Given the description of an element on the screen output the (x, y) to click on. 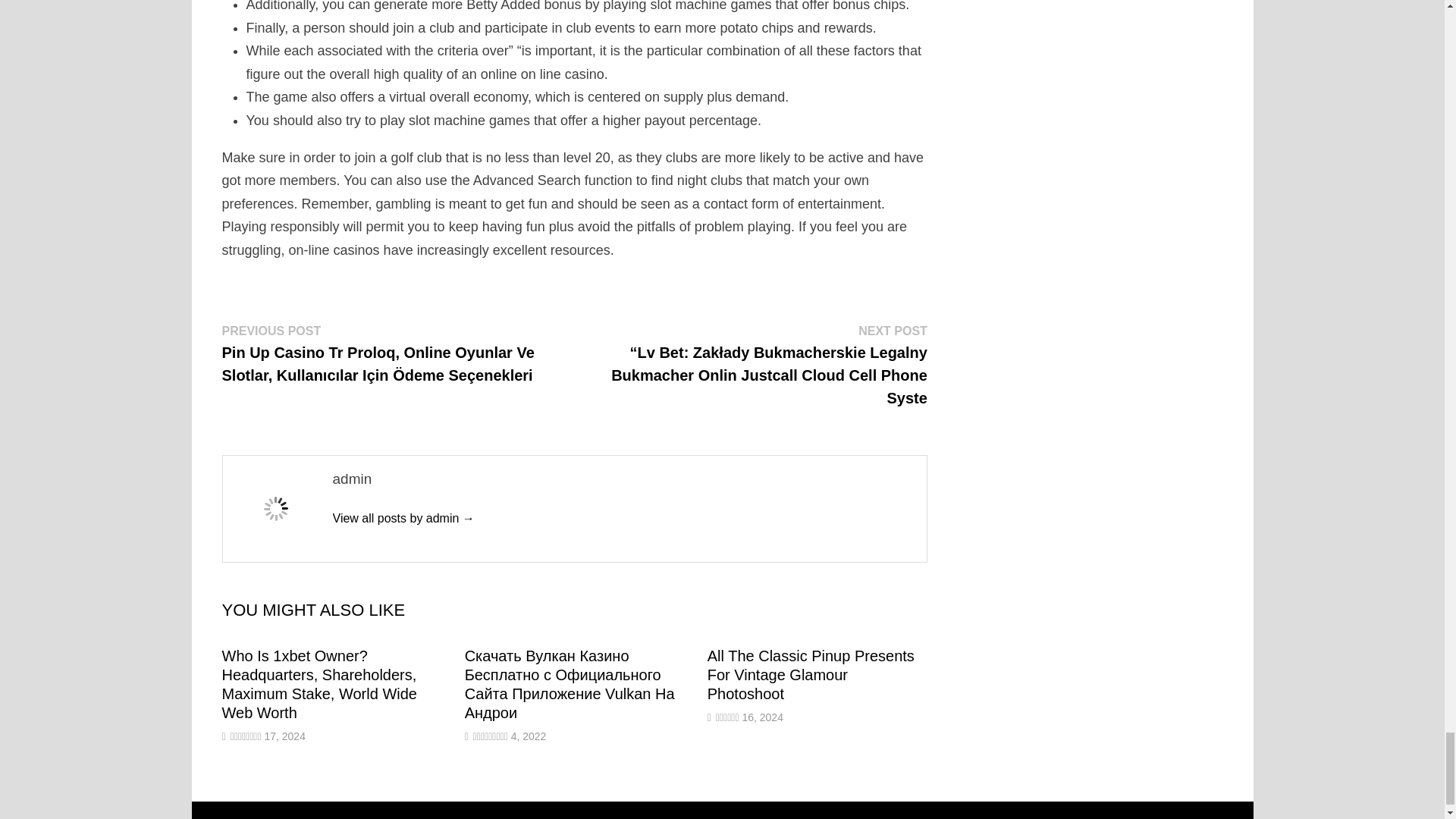
admin (402, 517)
